Given the description of an element on the screen output the (x, y) to click on. 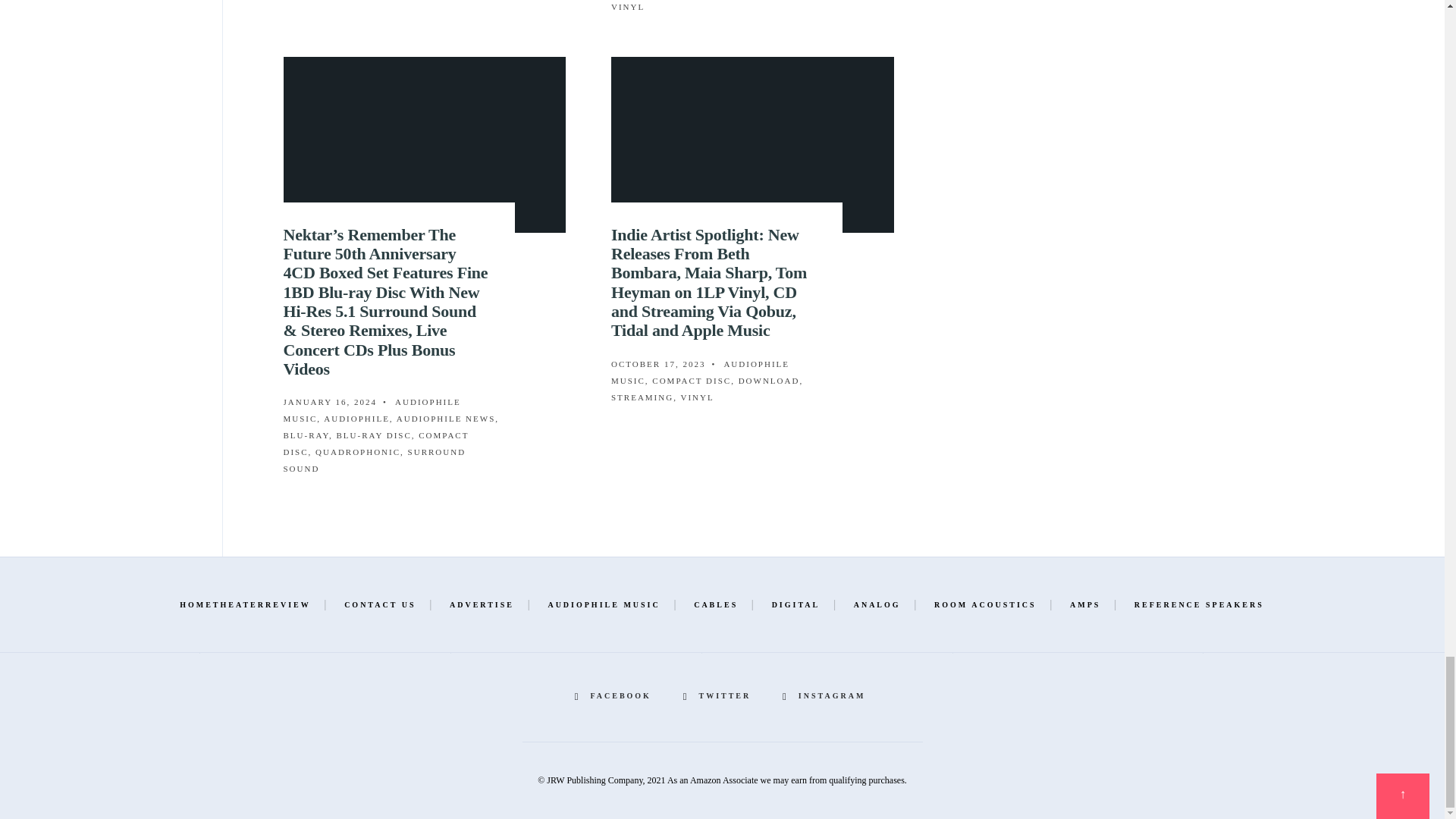
Twitter (719, 695)
Instagram (826, 695)
Facebook (615, 695)
